Given the description of an element on the screen output the (x, y) to click on. 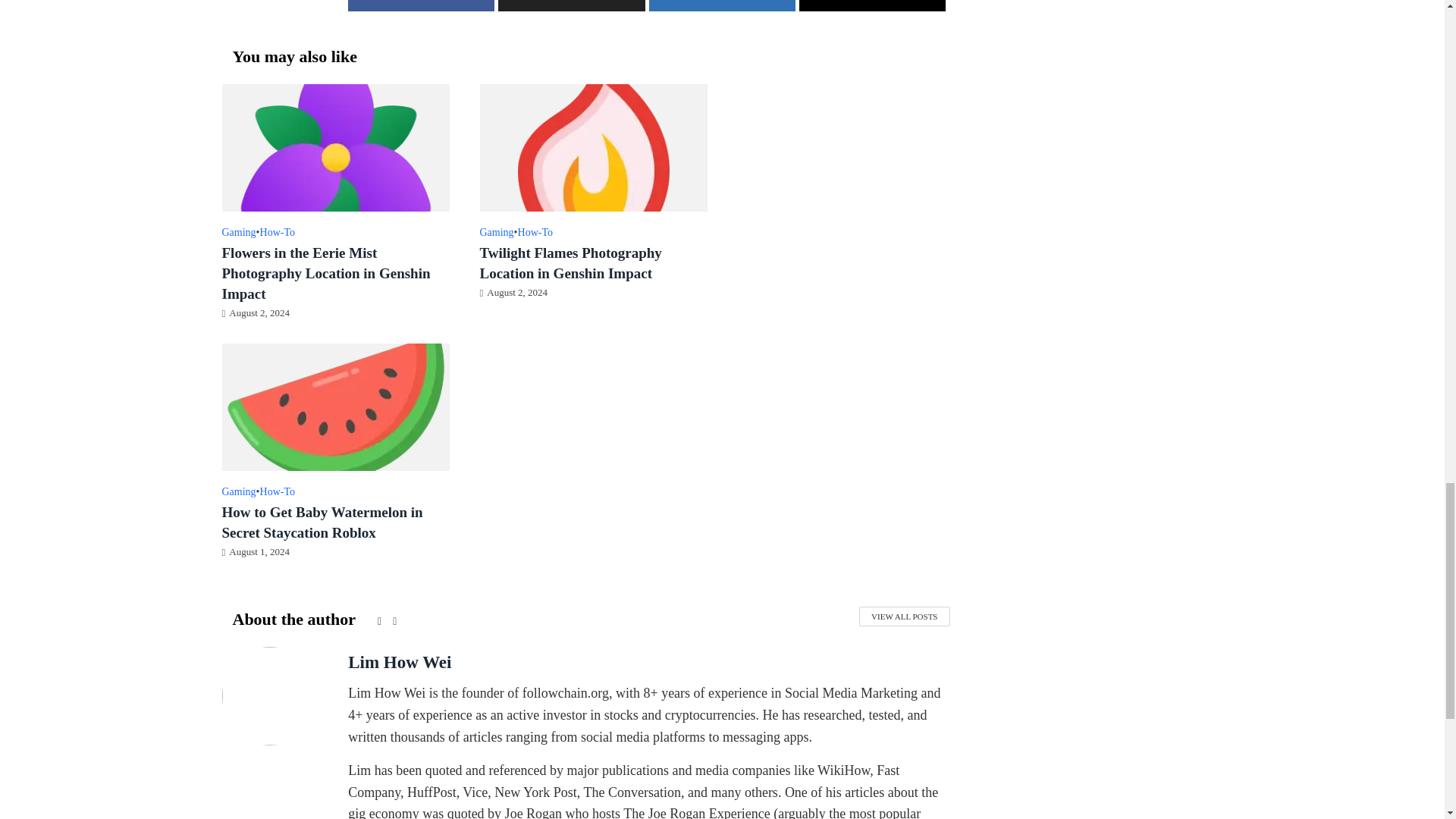
Twilight Flames Photography Location in Genshin Impact (592, 145)
How to Get Baby Watermelon in Secret Staycation Roblox (334, 405)
